Given the description of an element on the screen output the (x, y) to click on. 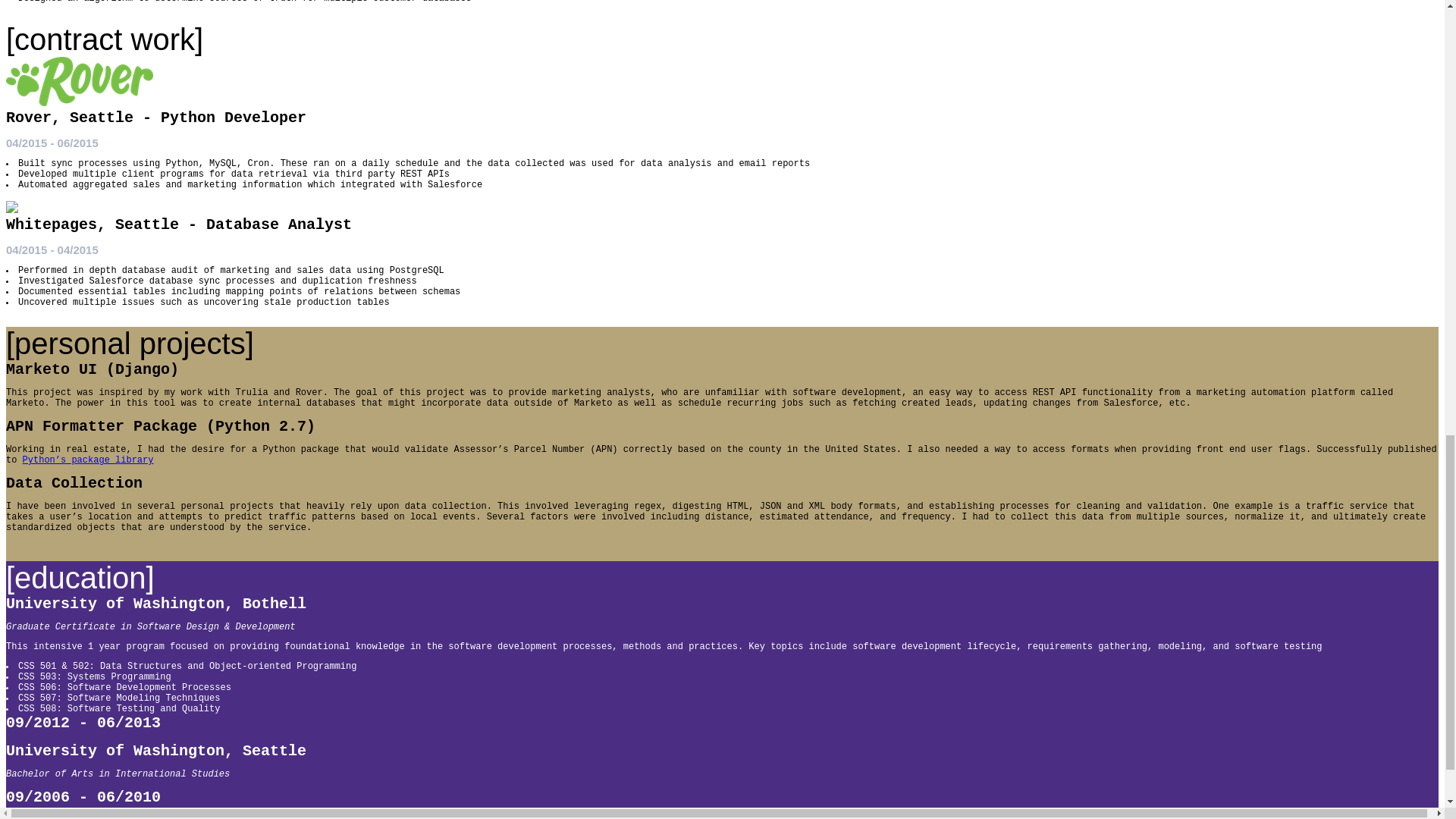
Data Collection (73, 483)
University of Washington, Bothell (155, 603)
University of Washington, Seattle (155, 751)
Rover, Seattle - Python Developer (155, 117)
Whitepages, Seattle - Database Analyst (178, 224)
